Given the description of an element on the screen output the (x, y) to click on. 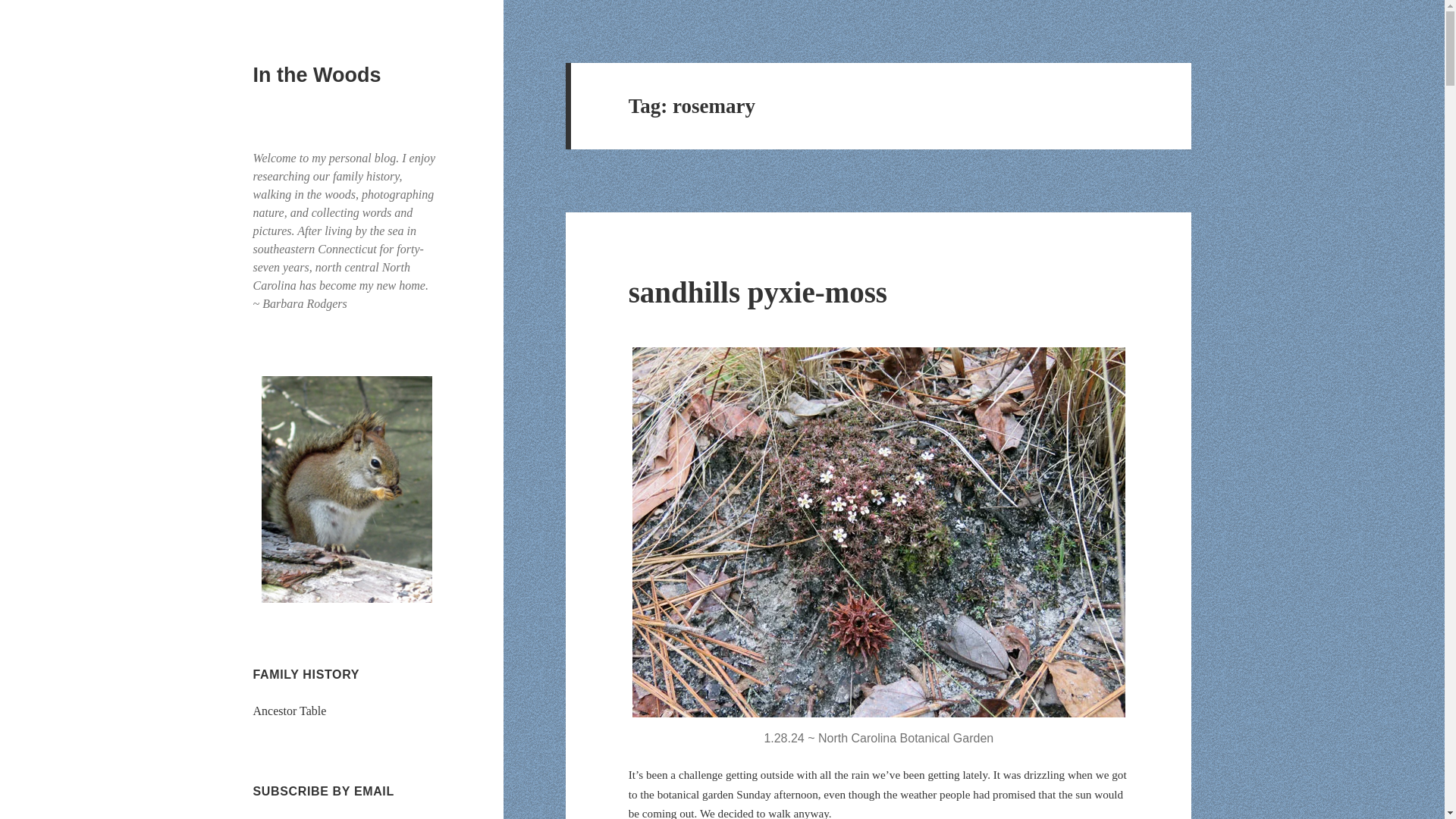
In the Woods (317, 74)
Ancestor Table (289, 710)
